Given the description of an element on the screen output the (x, y) to click on. 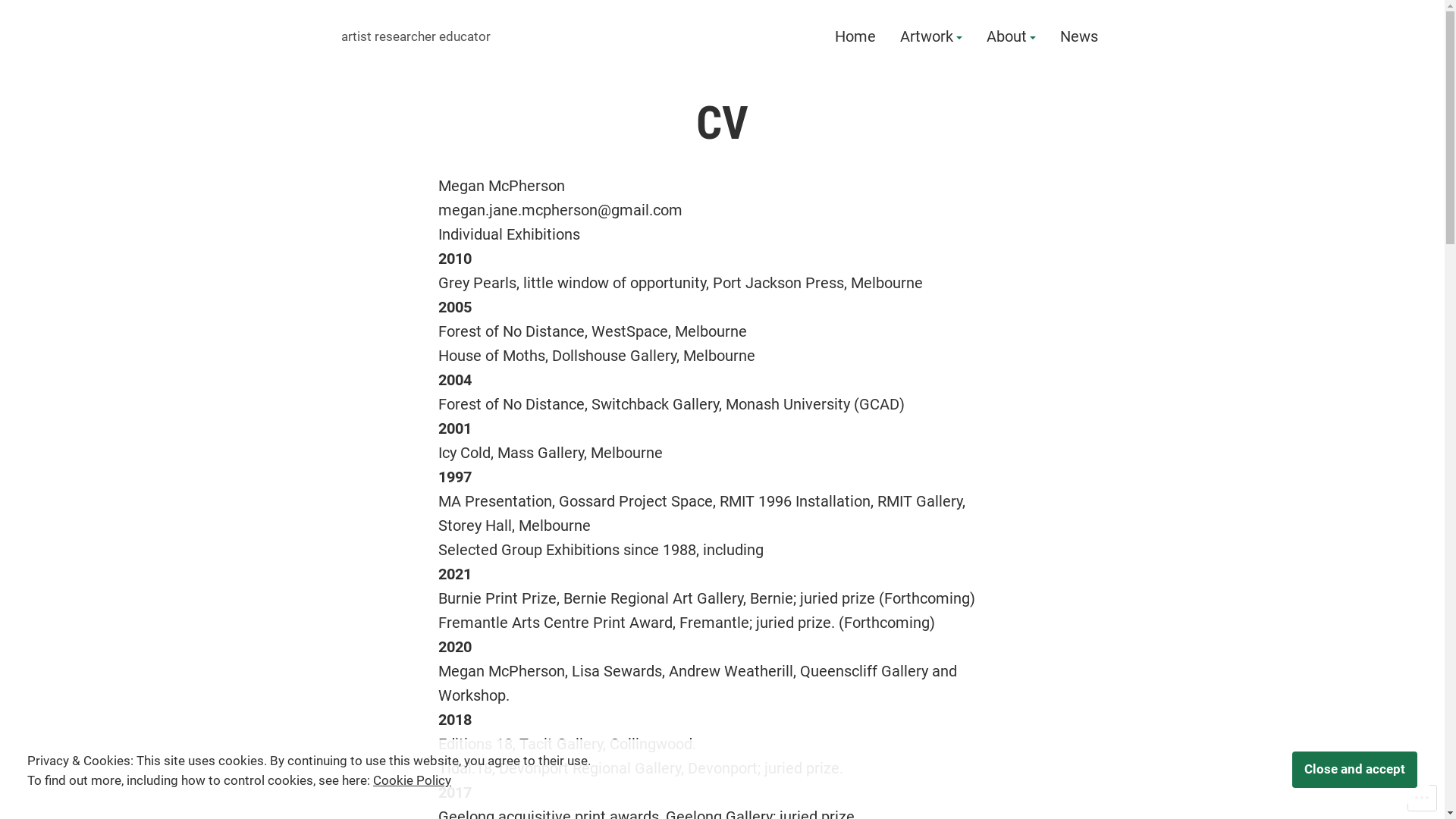
About Element type: text (1010, 36)
Cookie Policy Element type: text (412, 780)
News Element type: text (1079, 36)
Artwork Element type: text (930, 36)
Home Element type: text (854, 36)
Close and accept Element type: text (1354, 769)
